Given the description of an element on the screen output the (x, y) to click on. 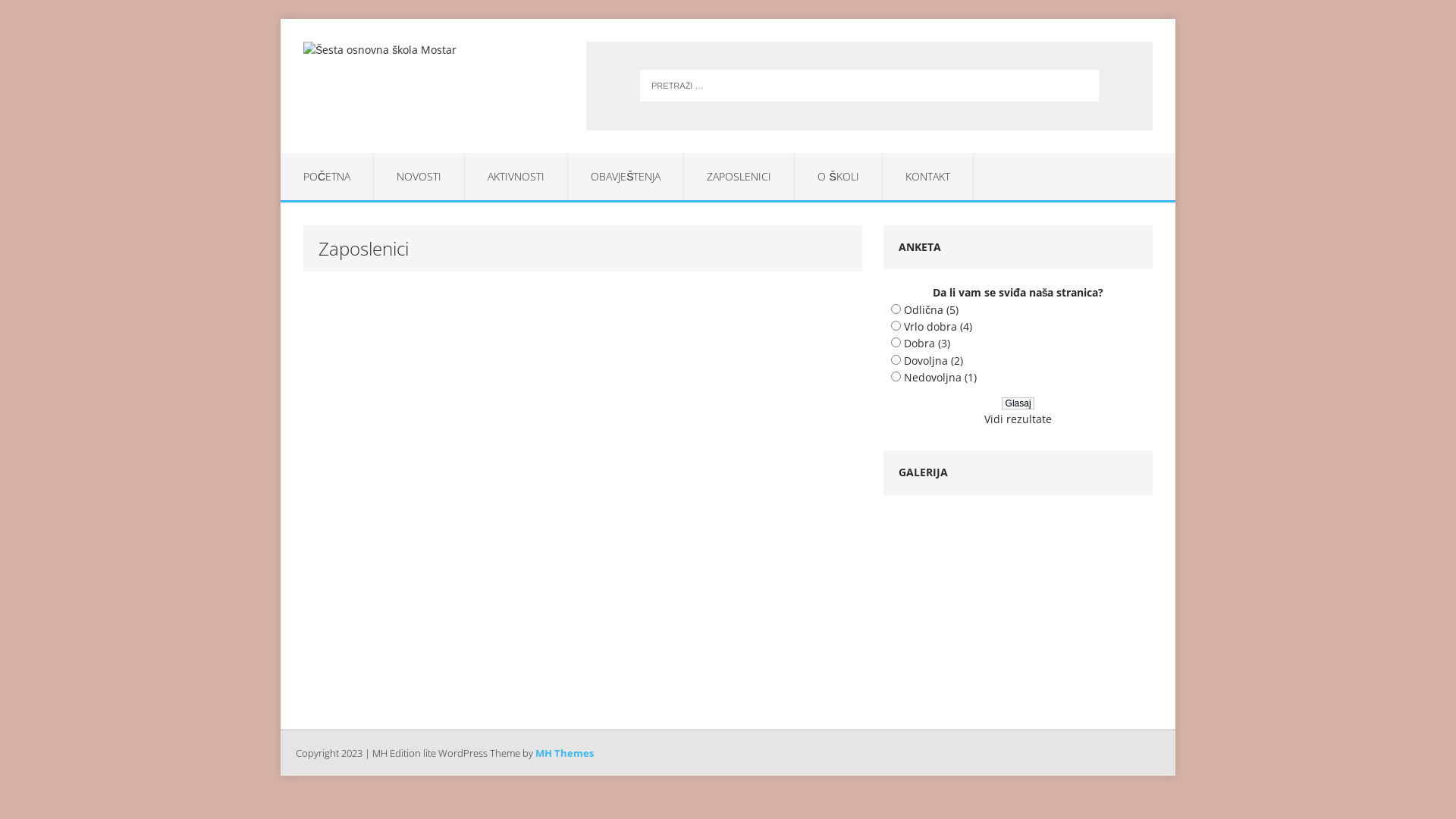
KONTAKT Element type: text (927, 176)
Vidi rezultate Element type: text (1017, 418)
Pretraga Element type: text (37, 15)
NOVOSTI Element type: text (418, 176)
MH Themes Element type: text (564, 752)
ZAPOSLENICI Element type: text (738, 176)
AKTIVNOSTI Element type: text (515, 176)
 Glasaj  Element type: text (1017, 403)
